Given the description of an element on the screen output the (x, y) to click on. 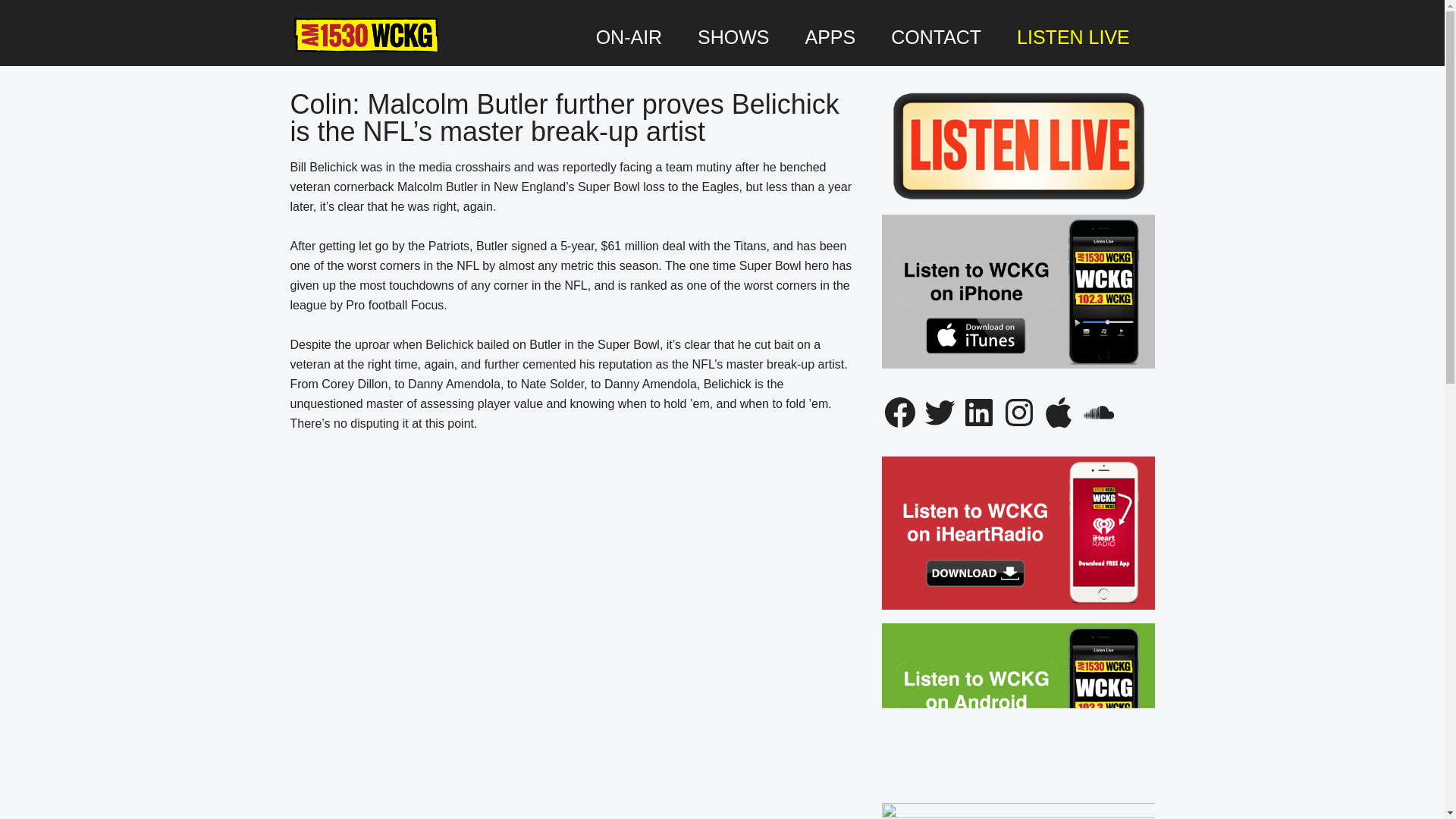
APPS (830, 37)
CONTACT (935, 37)
SHOWS (733, 37)
ON-AIR (629, 37)
LISTEN LIVE (1072, 37)
